Given the description of an element on the screen output the (x, y) to click on. 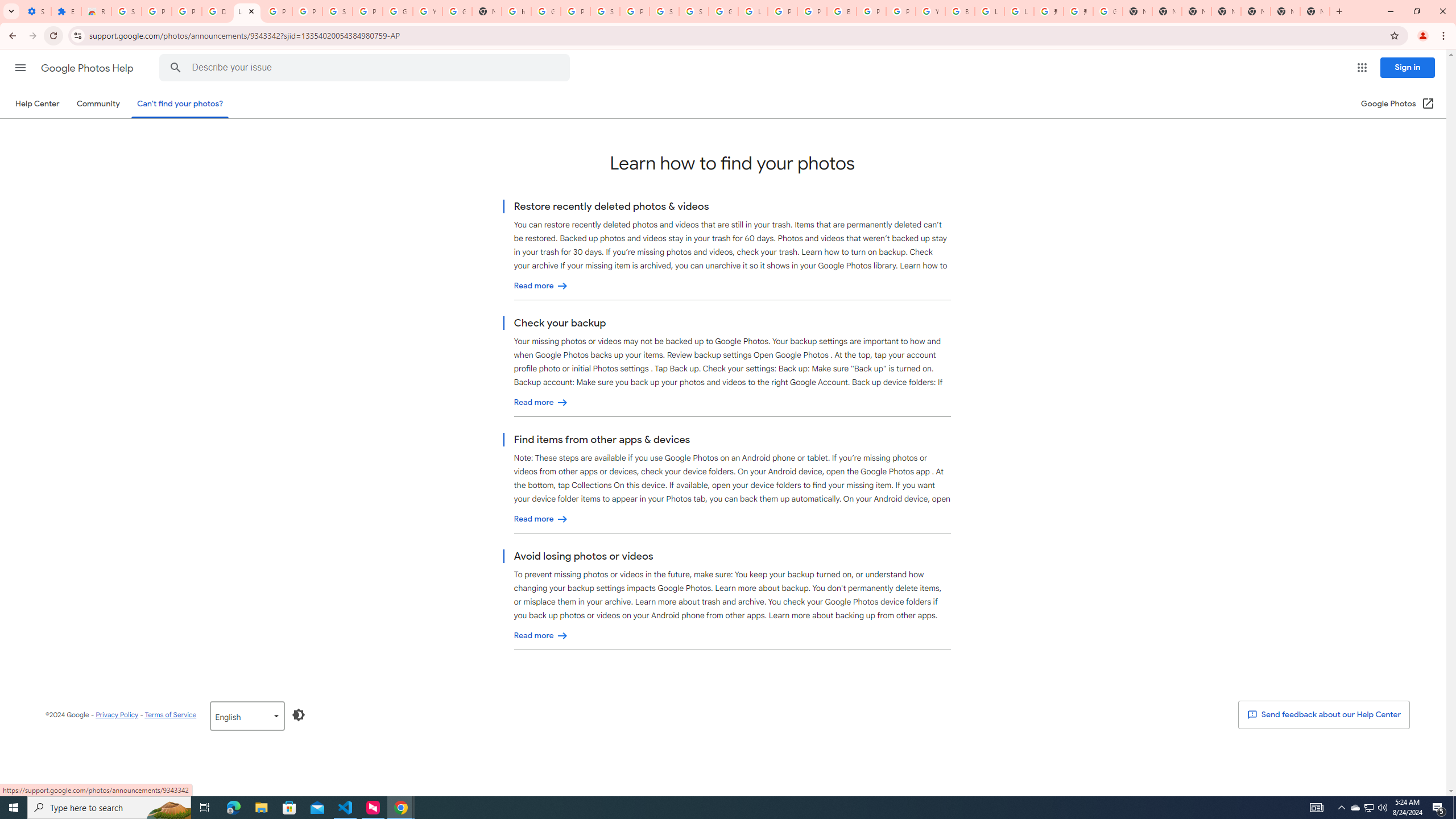
Enable Dark Mode (299, 714)
Restore recently deleted photos & videos (541, 286)
Reviews: Helix Fruit Jump Arcade Game (95, 11)
Google Account (397, 11)
Search Help Center (176, 67)
Can't find your photos? (180, 103)
